Given the description of an element on the screen output the (x, y) to click on. 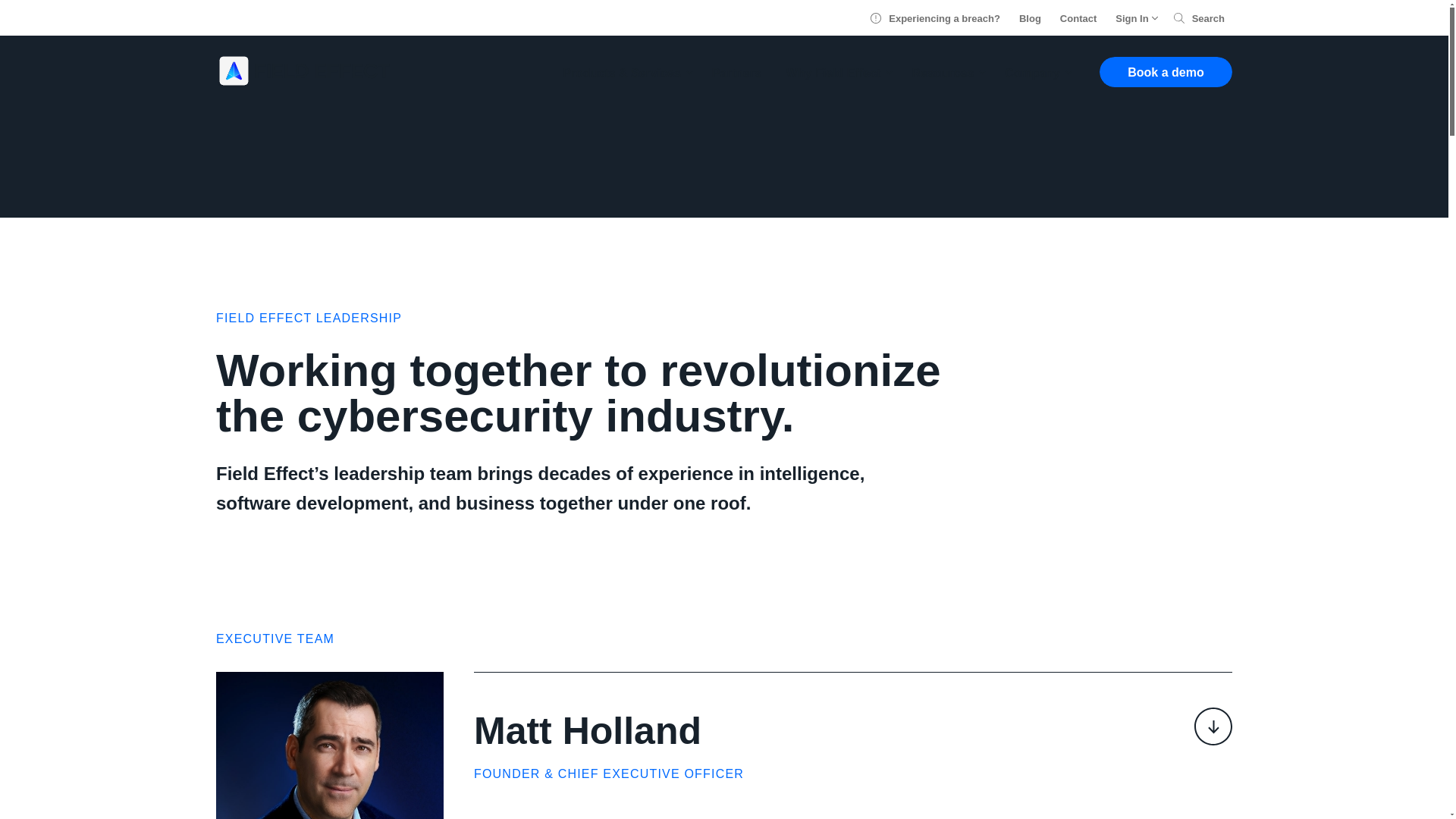
Why Field Effect (836, 73)
Contact (1077, 18)
Blog (1030, 18)
Search (1198, 18)
Experiencing a breach? (935, 18)
Resources (945, 73)
Sign In (1134, 18)
